Given the description of an element on the screen output the (x, y) to click on. 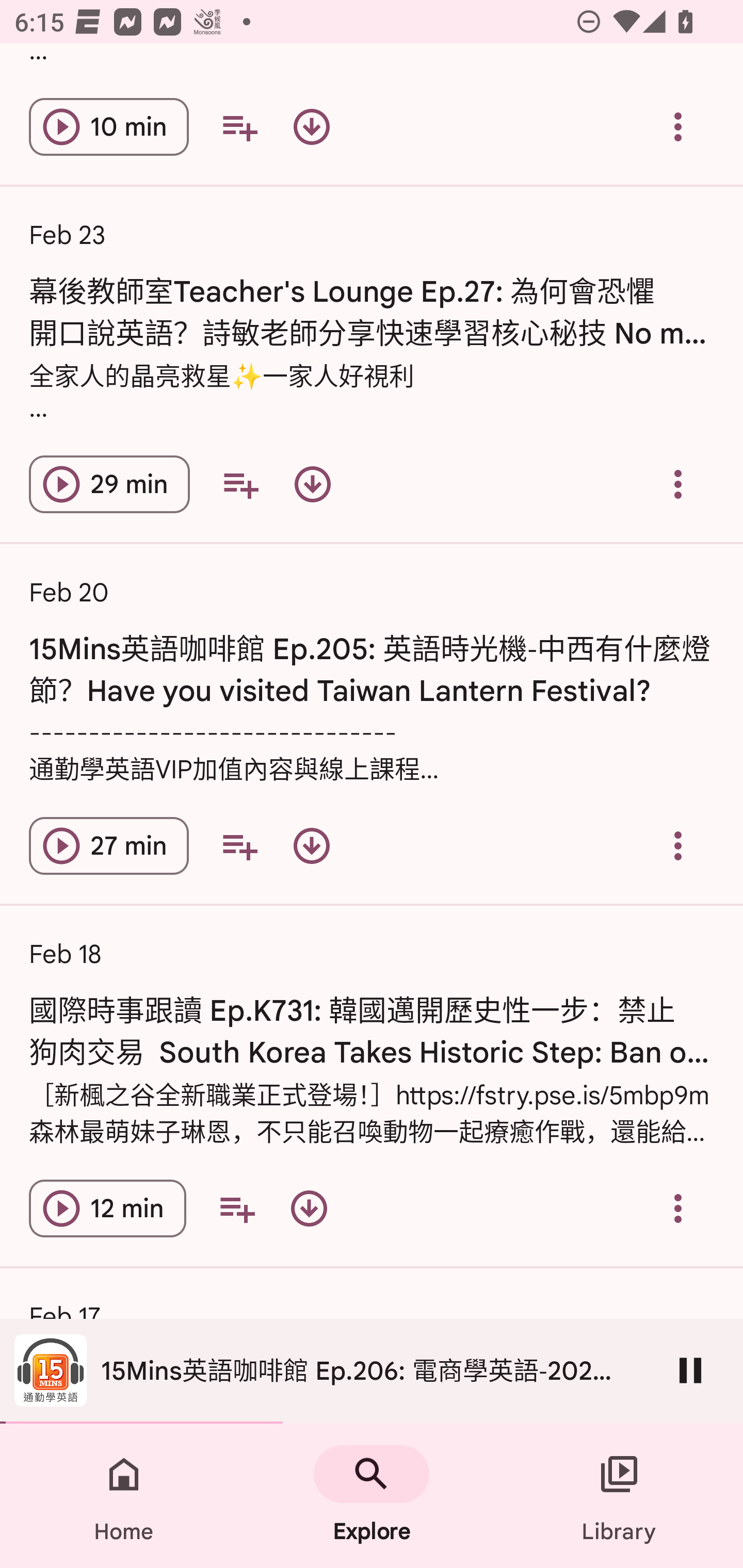
Add to your queue (239, 126)
Download episode (311, 126)
Overflow menu (677, 126)
Add to your queue (240, 484)
Download episode (312, 484)
Overflow menu (677, 484)
Add to your queue (239, 845)
Download episode (311, 845)
Overflow menu (677, 845)
Add to your queue (236, 1208)
Download episode (308, 1208)
Overflow menu (677, 1208)
Pause (690, 1370)
Home (123, 1495)
Library (619, 1495)
